Given the description of an element on the screen output the (x, y) to click on. 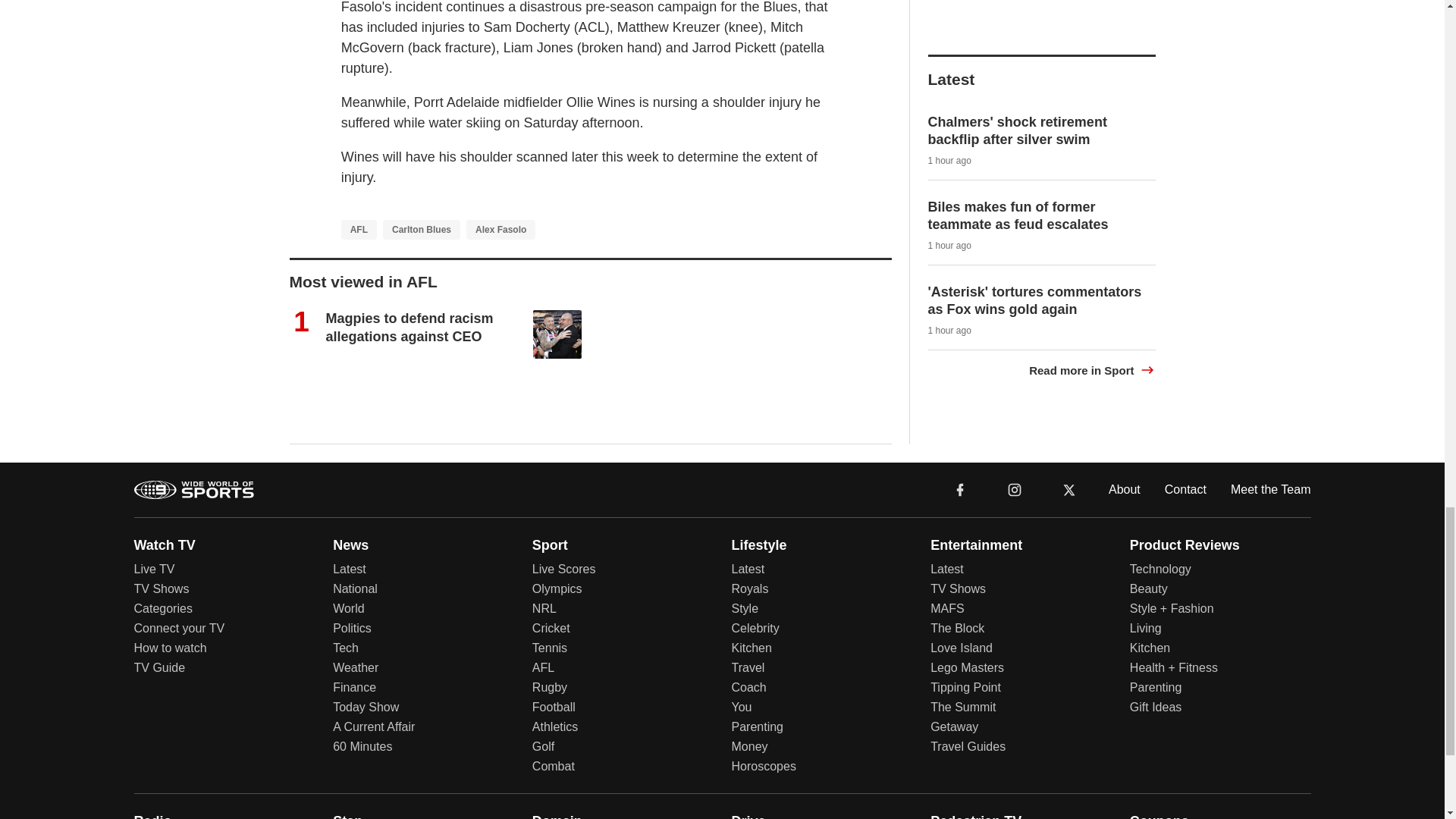
facebook (959, 489)
x (1069, 489)
x (1069, 489)
instagram (1014, 489)
Carlton Blues (421, 229)
Magpies to defend racism allegations against CEO (409, 327)
x (1069, 489)
instagram (1013, 489)
Meet the Team (1270, 489)
About (1124, 489)
AFL (358, 229)
instagram (1013, 489)
Alex Fasolo (500, 229)
facebook (959, 489)
facebook (960, 489)
